Given the description of an element on the screen output the (x, y) to click on. 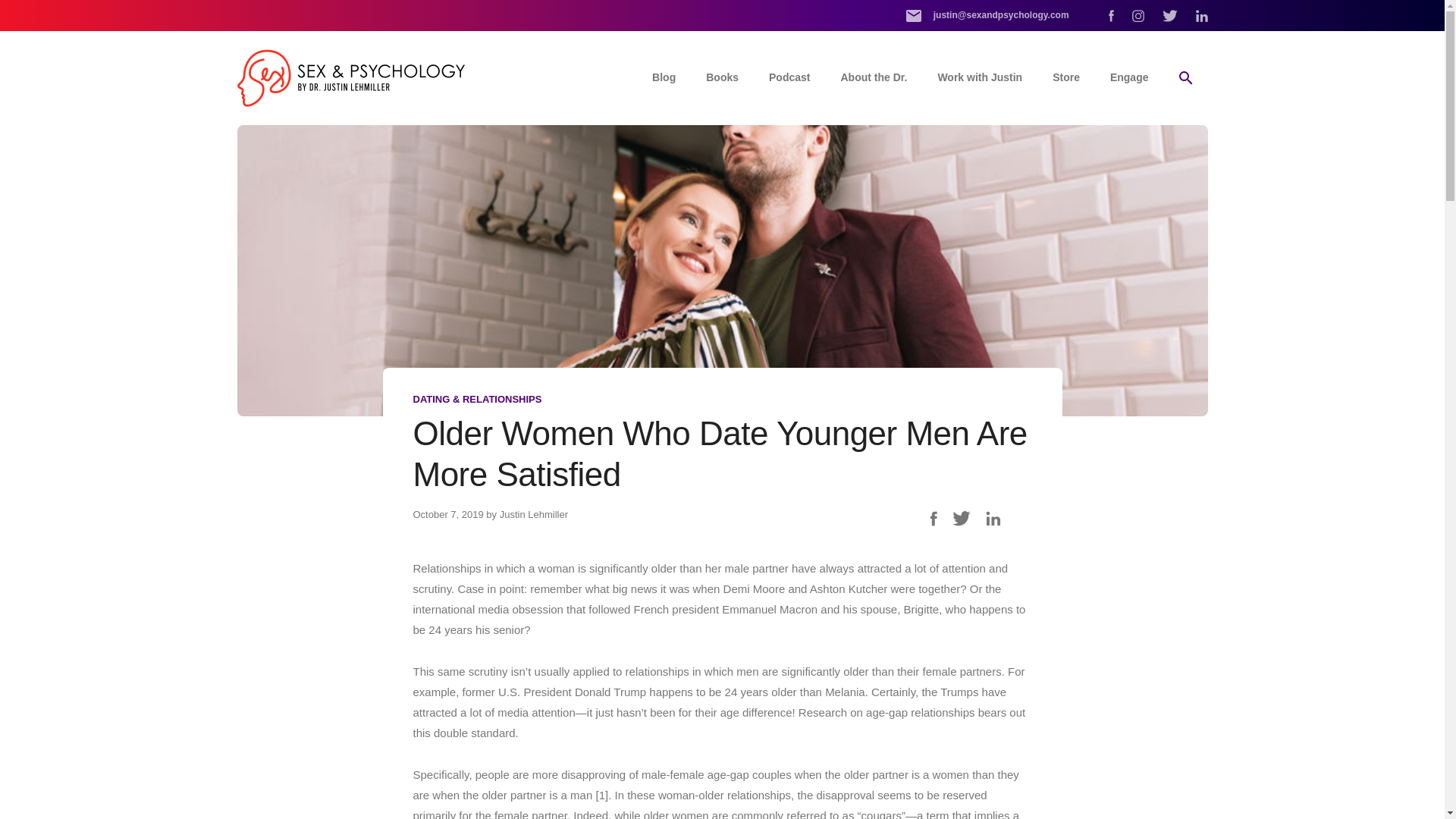
Books (722, 77)
About the Dr. (873, 77)
Engage (1128, 77)
Work with Justin (979, 77)
Podcast (788, 77)
